Given the description of an element on the screen output the (x, y) to click on. 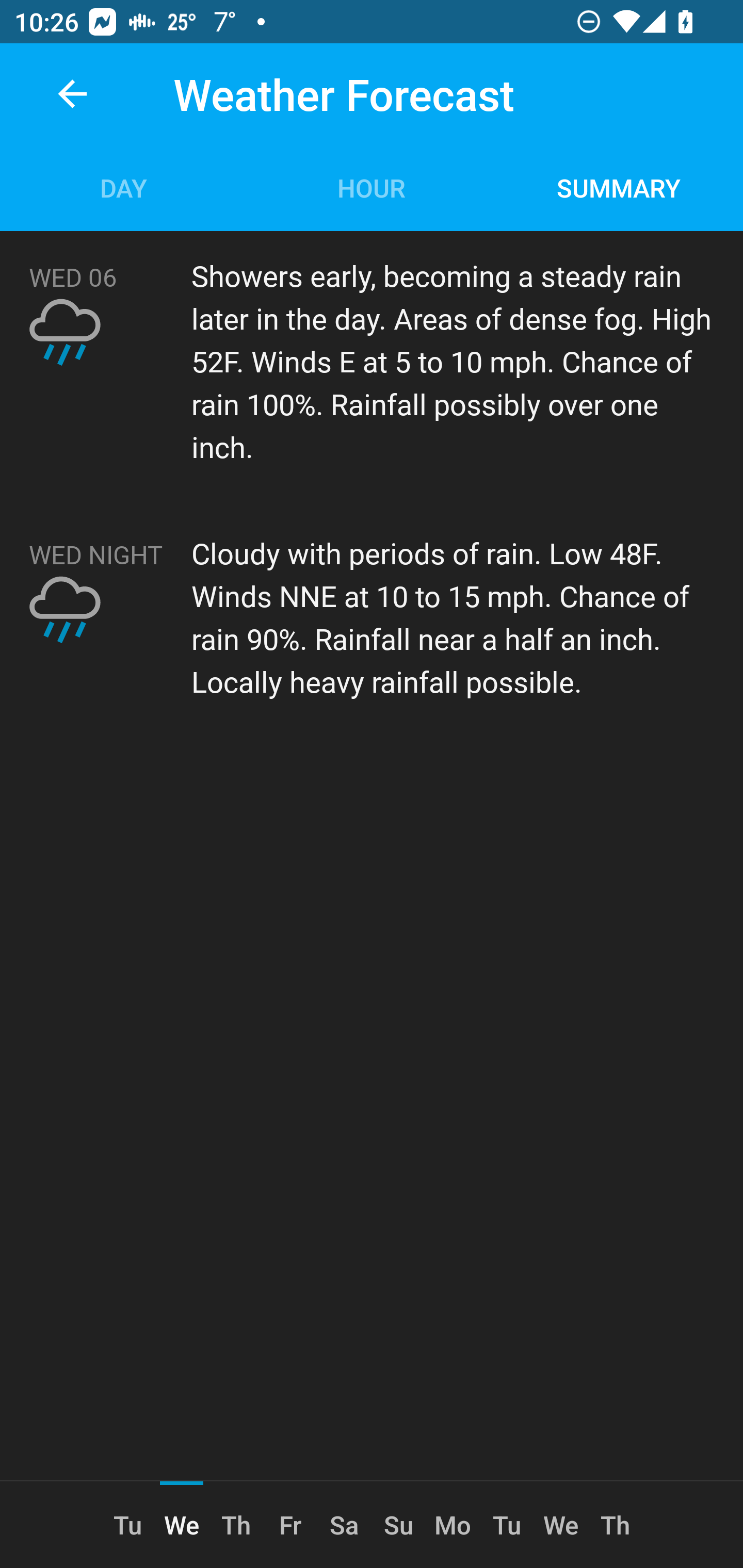
back (71, 93)
Day Tab DAY (123, 187)
Hour Tab HOUR (371, 187)
Tu (127, 1524)
Th (235, 1524)
Fr (290, 1524)
Sa (344, 1524)
Su (398, 1524)
Mo (452, 1524)
Tu (506, 1524)
We (561, 1524)
Th (615, 1524)
